Given the description of an element on the screen output the (x, y) to click on. 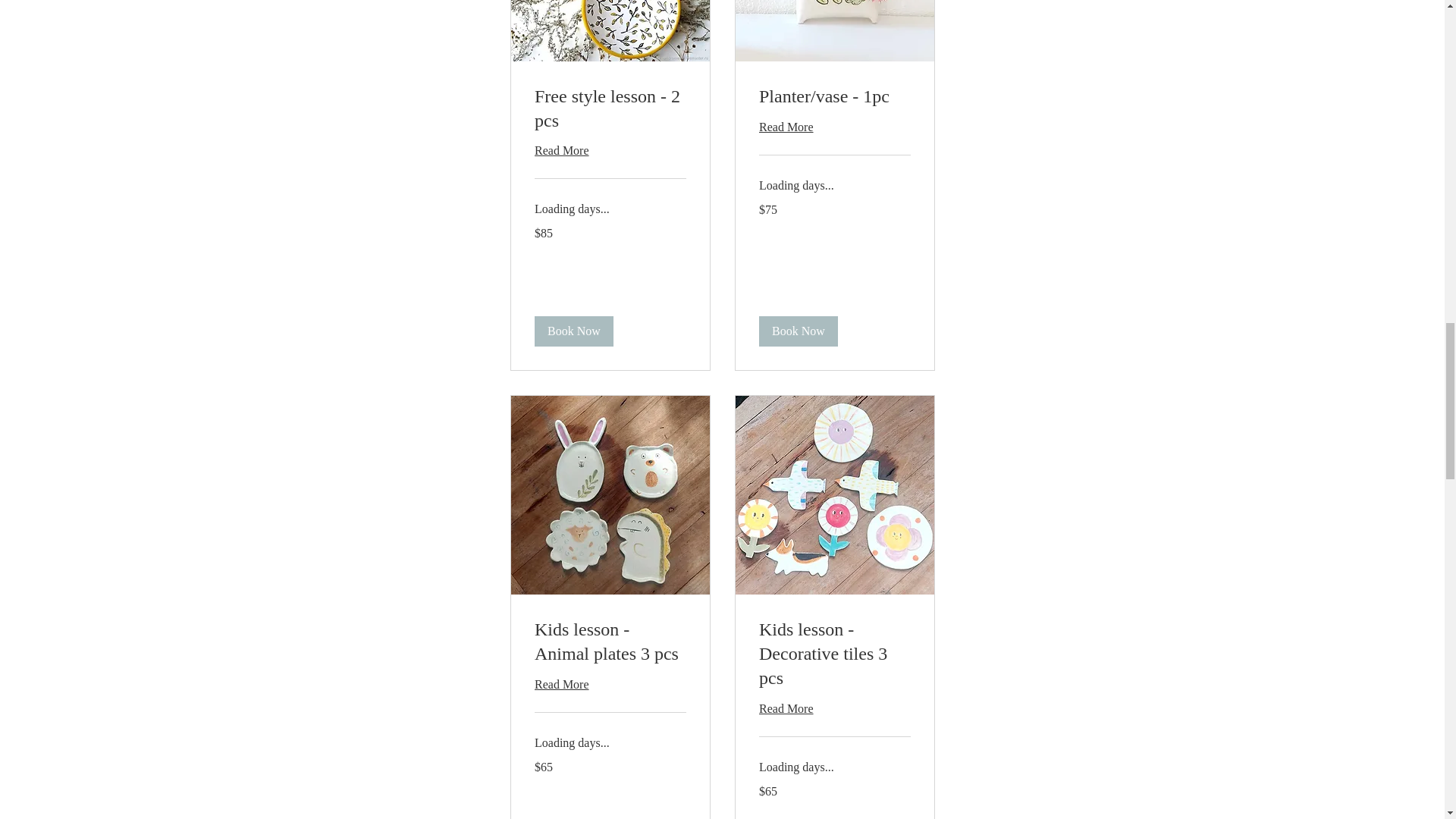
Free style lesson - 2 pcs (609, 108)
Read More (834, 126)
Read More (609, 150)
Kids lesson - Decorative tiles 3 pcs (834, 654)
Read More (609, 684)
Book Now (797, 331)
Read More (834, 709)
Kids lesson - Animal plates 3 pcs (609, 642)
Book Now (573, 331)
